Given the description of an element on the screen output the (x, y) to click on. 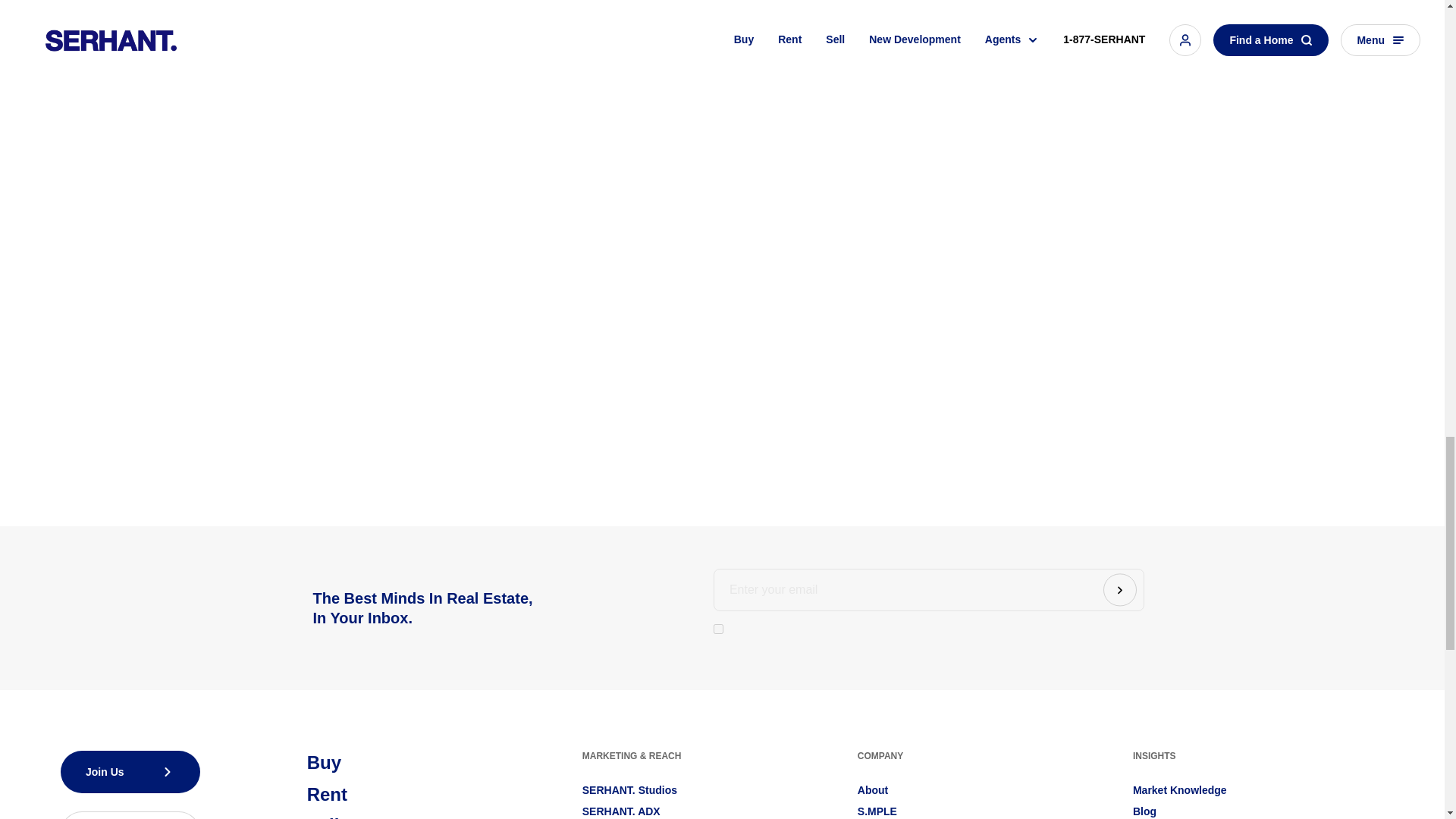
SERHANT. S.MPLE (876, 811)
on (718, 628)
